Given the description of an element on the screen output the (x, y) to click on. 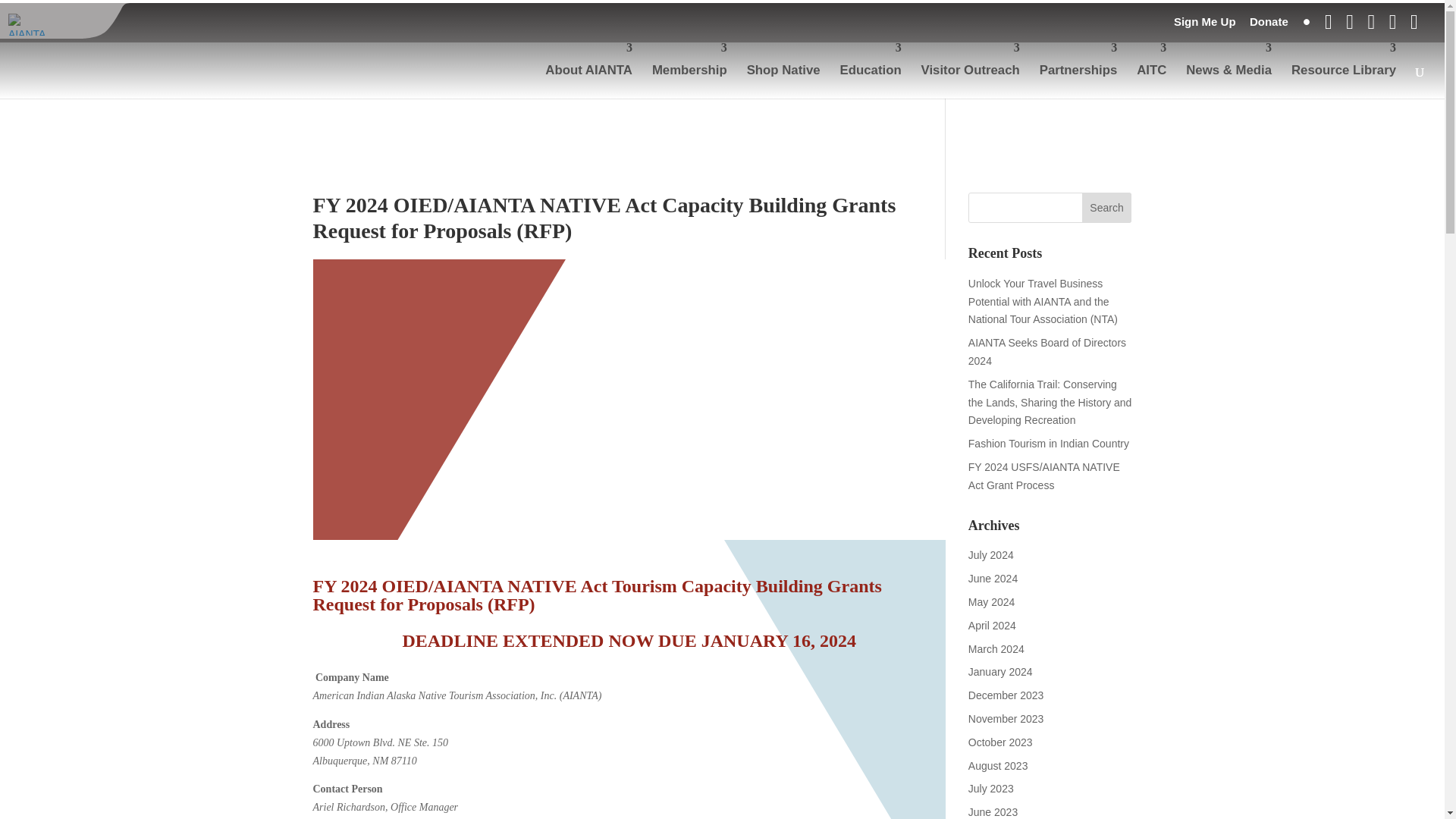
Education (870, 70)
Partnerships (1078, 70)
Visitor Outreach (970, 70)
Search (1106, 207)
About AIANTA (587, 70)
AITC (1151, 70)
Donate (1268, 26)
Membership (689, 70)
Shop Native (783, 70)
Sign Me Up (1204, 26)
